Given the description of an element on the screen output the (x, y) to click on. 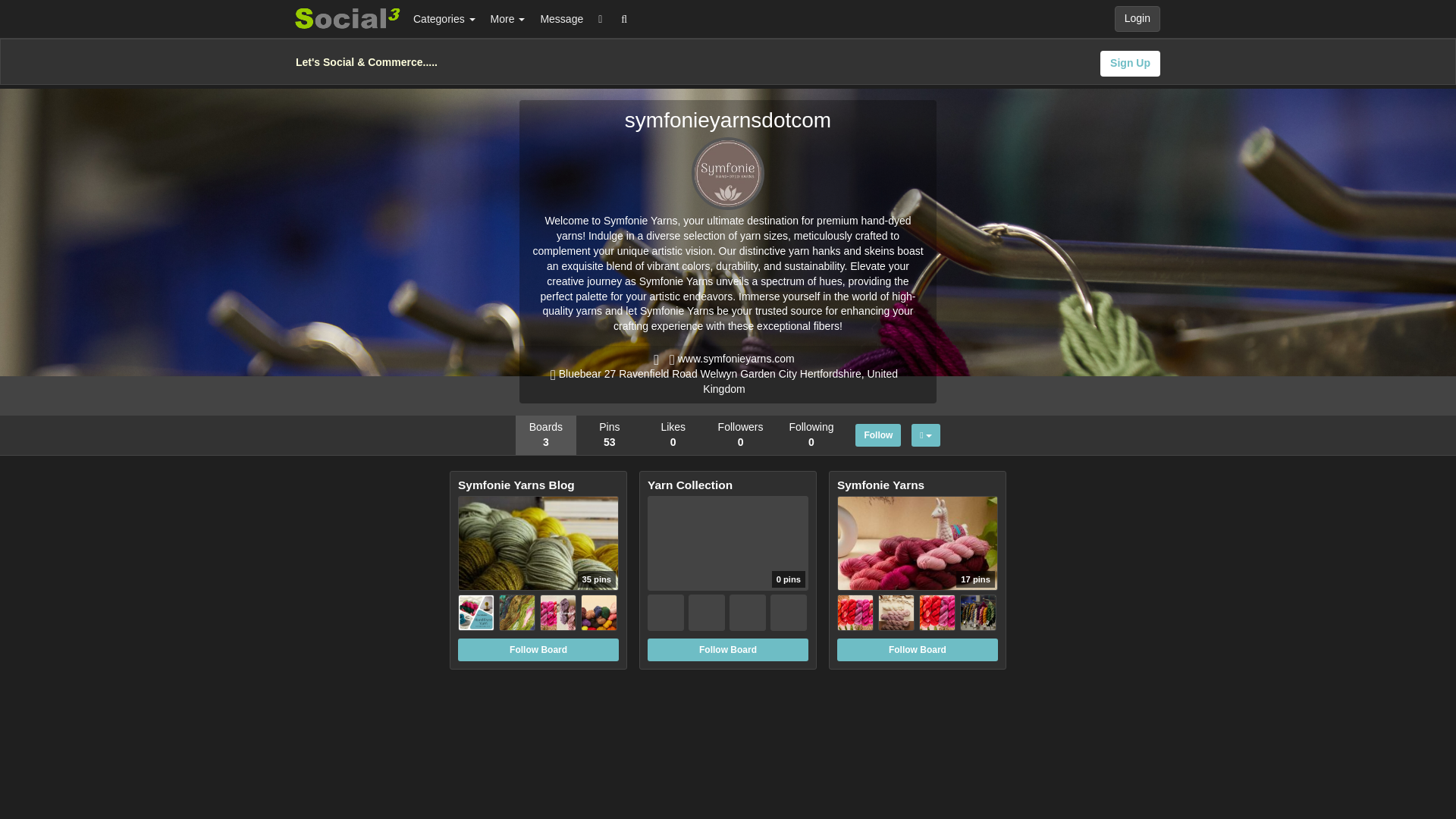
Login (1137, 18)
Sign Up (1130, 63)
Symfonie Yarns Blog (538, 485)
Yarn Collection (727, 485)
More (507, 18)
Message (561, 18)
Symfonie Yarns (917, 485)
Categories (444, 18)
